Given the description of an element on the screen output the (x, y) to click on. 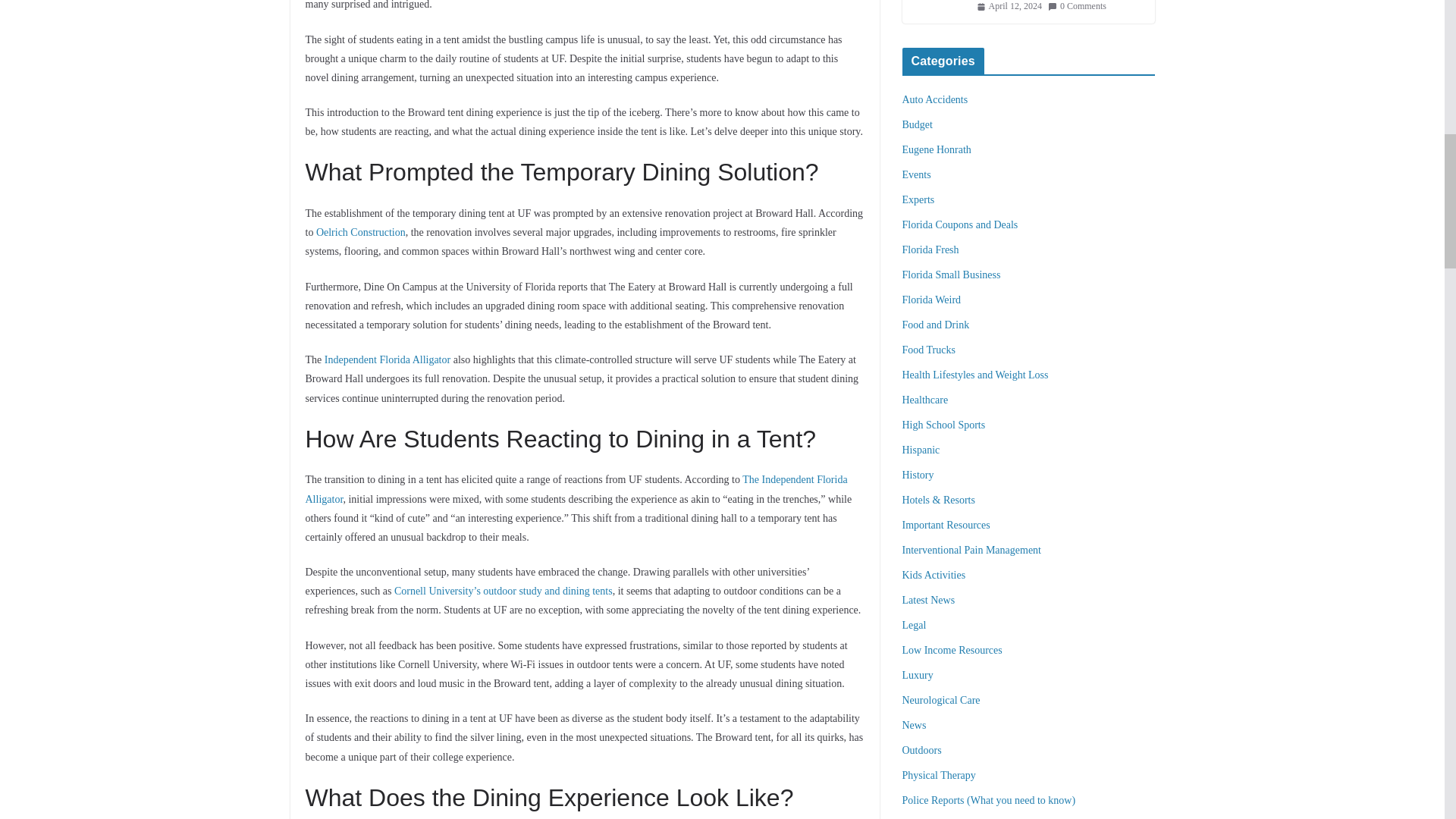
Oelrich Construction (360, 232)
Independent Florida Alligator (386, 359)
The Independent Florida Alligator (575, 489)
